Given the description of an element on the screen output the (x, y) to click on. 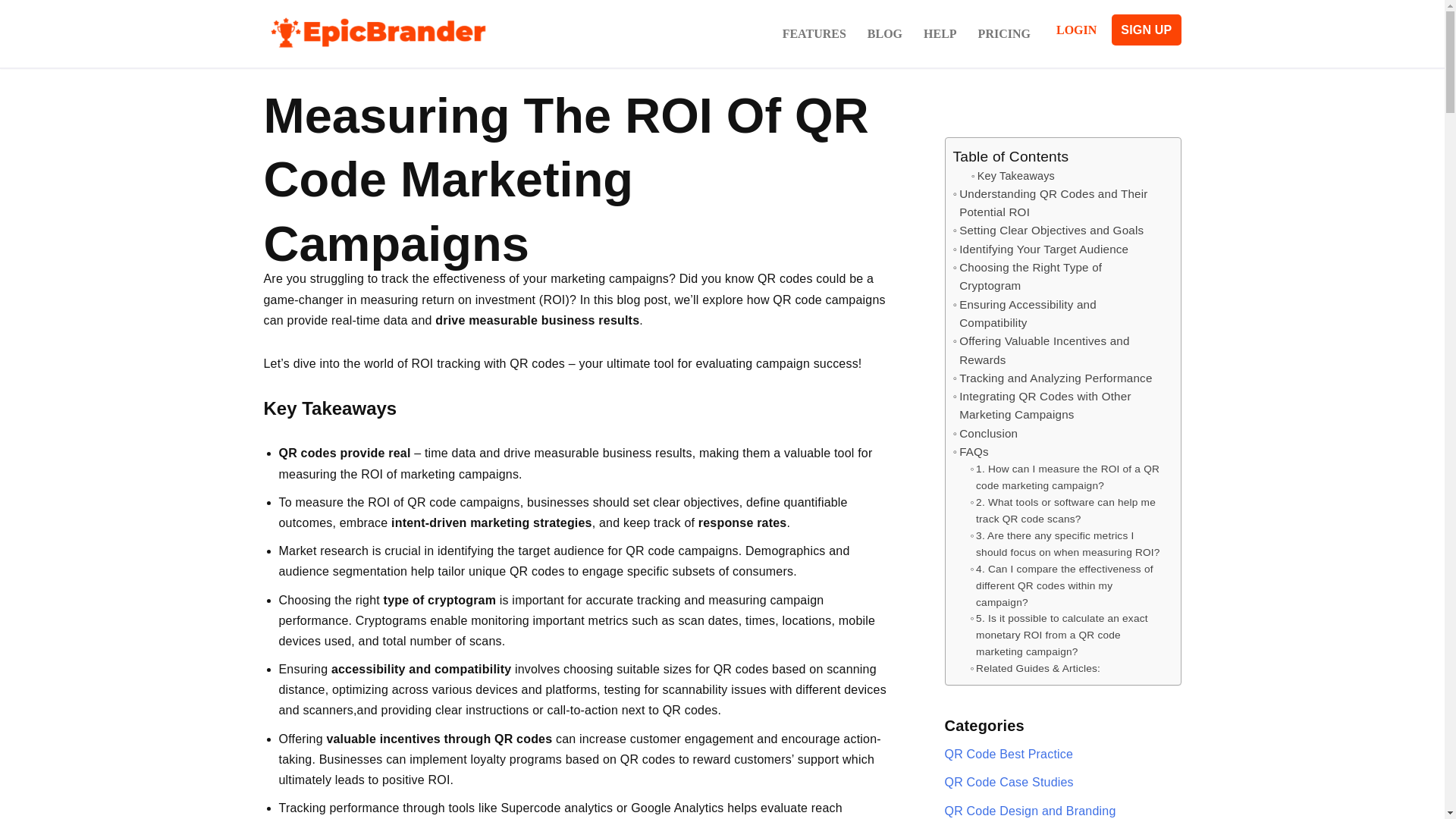
Understanding QR Codes and Their Potential ROI (1058, 203)
Key Takeaways (1012, 176)
Identifying Your Target Audience (1040, 249)
LOGIN (1076, 29)
Identifying Your Target Audience (1040, 249)
Ensuring Accessibility and Compatibility (1058, 313)
Choosing the Right Type of Cryptogram (1058, 276)
HELP (939, 33)
Skip to content (11, 31)
PRICING (1004, 33)
Key Takeaways (1012, 176)
Tracking and Analyzing Performance (1051, 378)
Ensuring Accessibility and Compatibility (1058, 313)
Offering Valuable Incentives and Rewards (1058, 350)
Setting Clear Objectives and Goals (1047, 230)
